Given the description of an element on the screen output the (x, y) to click on. 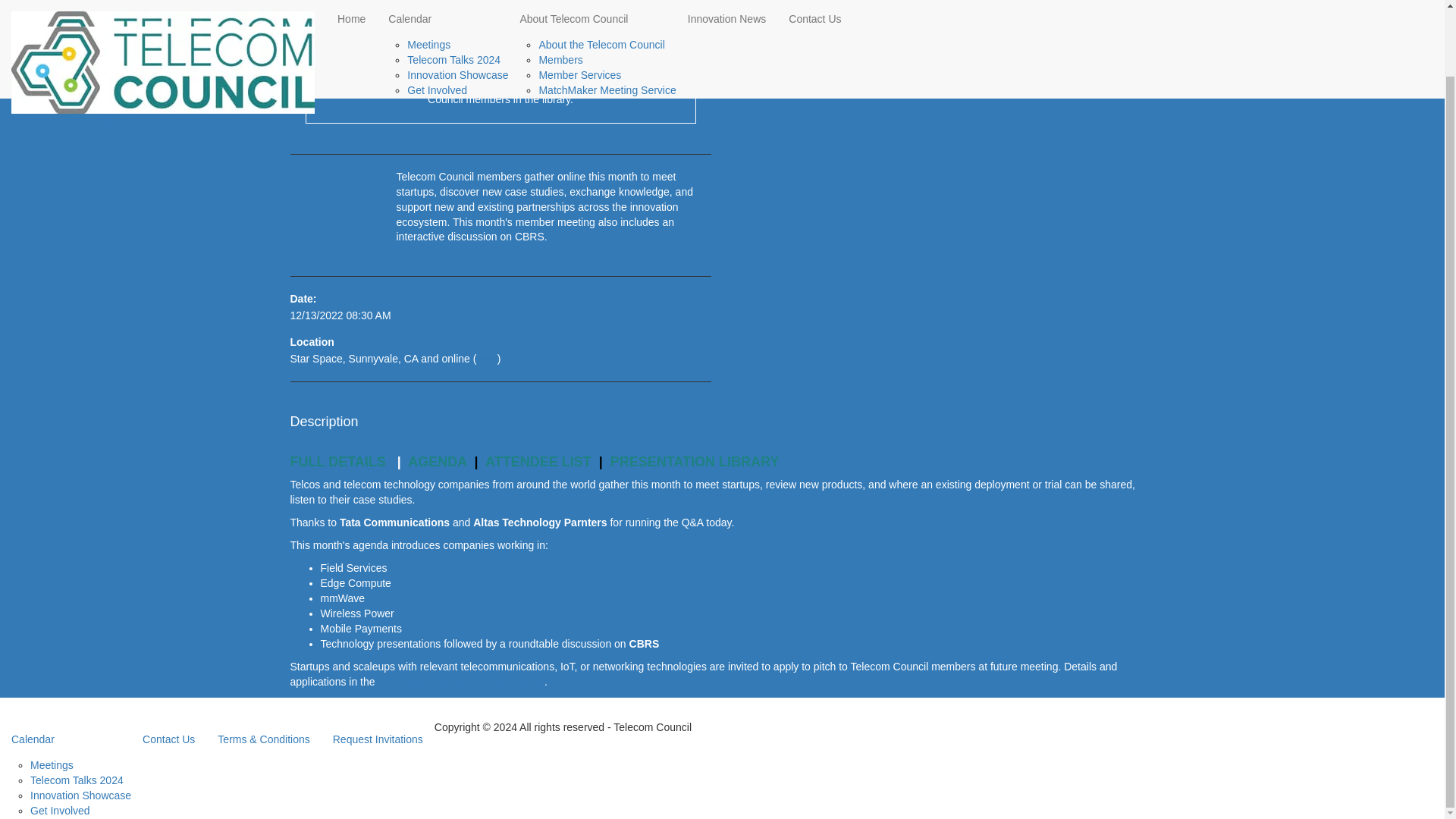
MatchMaker Meeting Service (606, 17)
FULL DETAILS (337, 461)
Innovation Showcase (457, 4)
AGENDA (436, 461)
Member Services (579, 4)
PRESENTATION LIBRARY (694, 461)
Get Involved (437, 17)
Get Involved section of this website (460, 681)
Map (486, 357)
ATTENDEE LIST (537, 461)
